Given the description of an element on the screen output the (x, y) to click on. 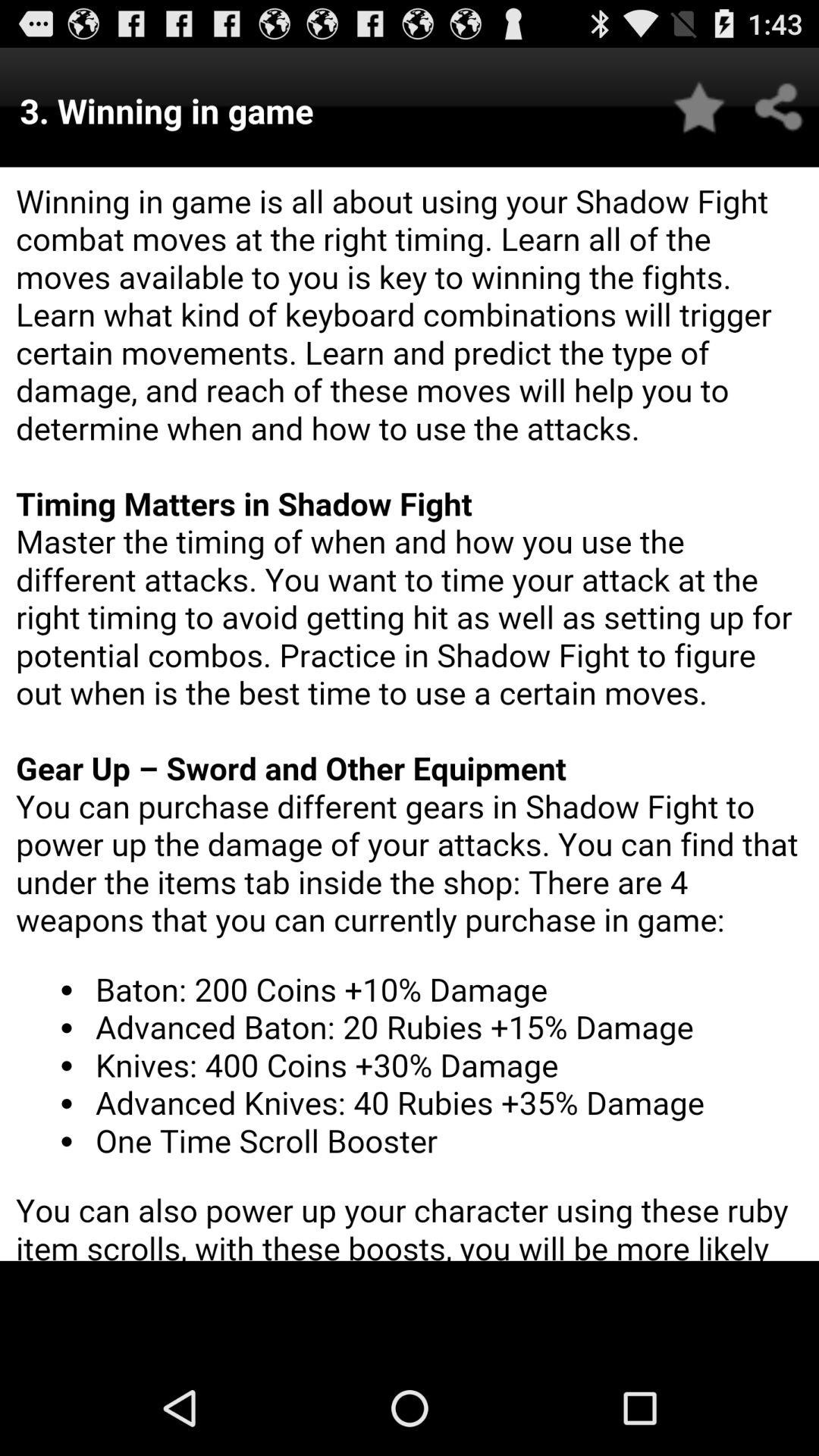
share (779, 107)
